Given the description of an element on the screen output the (x, y) to click on. 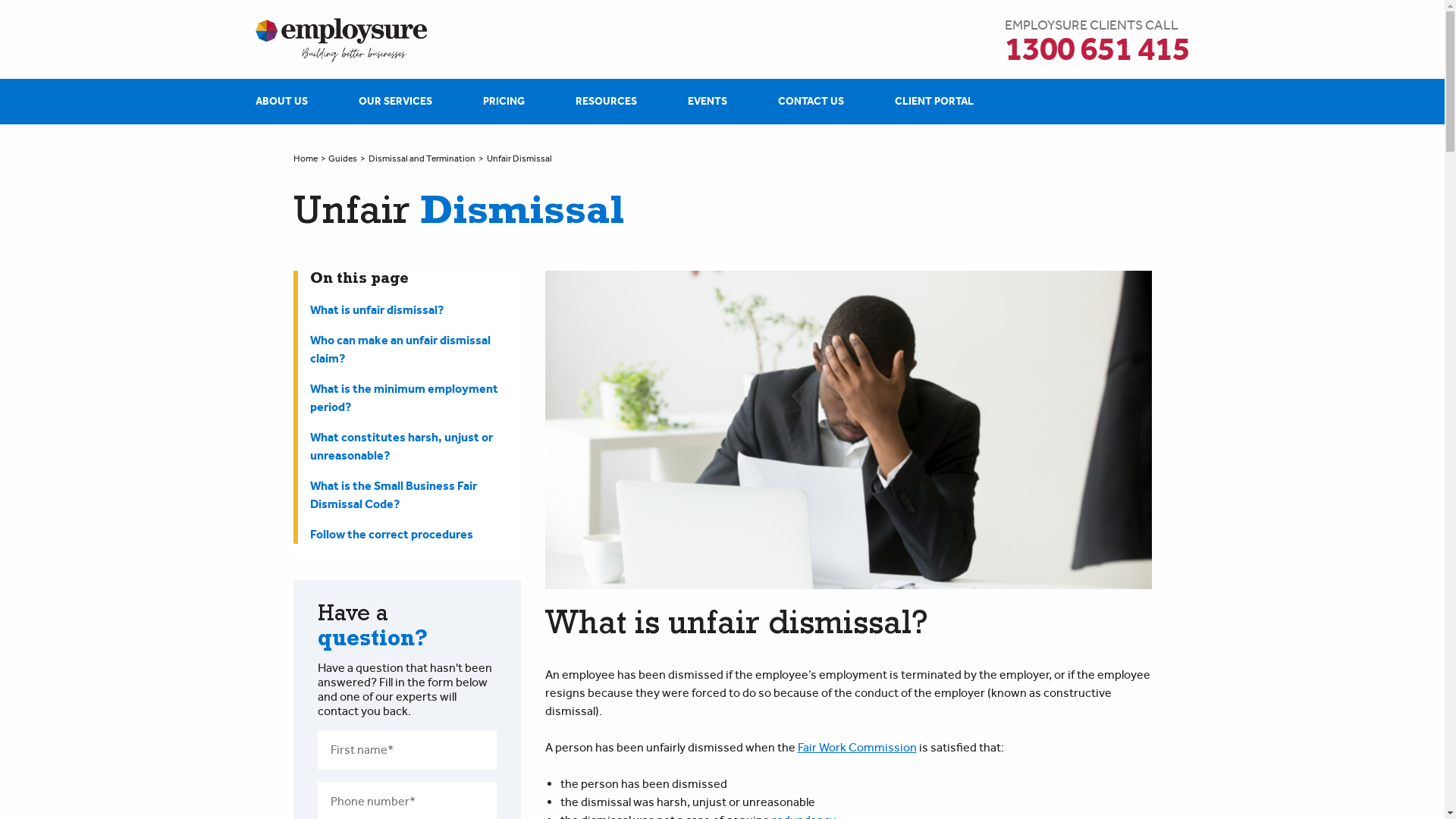
ABOUT US Element type: text (280, 100)
OUR SERVICES Element type: text (394, 100)
Dismissal and Termination Element type: text (421, 158)
What constitutes harsh, unjust or unreasonable? Element type: text (414, 446)
Home Element type: text (304, 158)
EVENTS Element type: text (706, 100)
Follow the correct procedures Element type: text (414, 534)
PRICING Element type: text (503, 100)
Guides Element type: text (342, 158)
What is the Small Business Fair Dismissal Code? Element type: text (414, 494)
RESOURCES Element type: text (605, 100)
EMPLOYSURE HOME Element type: text (352, 40)
Who can make an unfair dismissal claim? Element type: text (414, 349)
What is unfair dismissal? Element type: text (414, 310)
Fair Work Commission Element type: text (856, 747)
EMPLOYSURE CLIENTS CALL
1300 651 415 Element type: text (1096, 41)
What is the minimum employment period? Element type: text (414, 397)
CONTACT US Element type: text (810, 100)
CLIENT PORTAL Element type: text (933, 100)
